Given the description of an element on the screen output the (x, y) to click on. 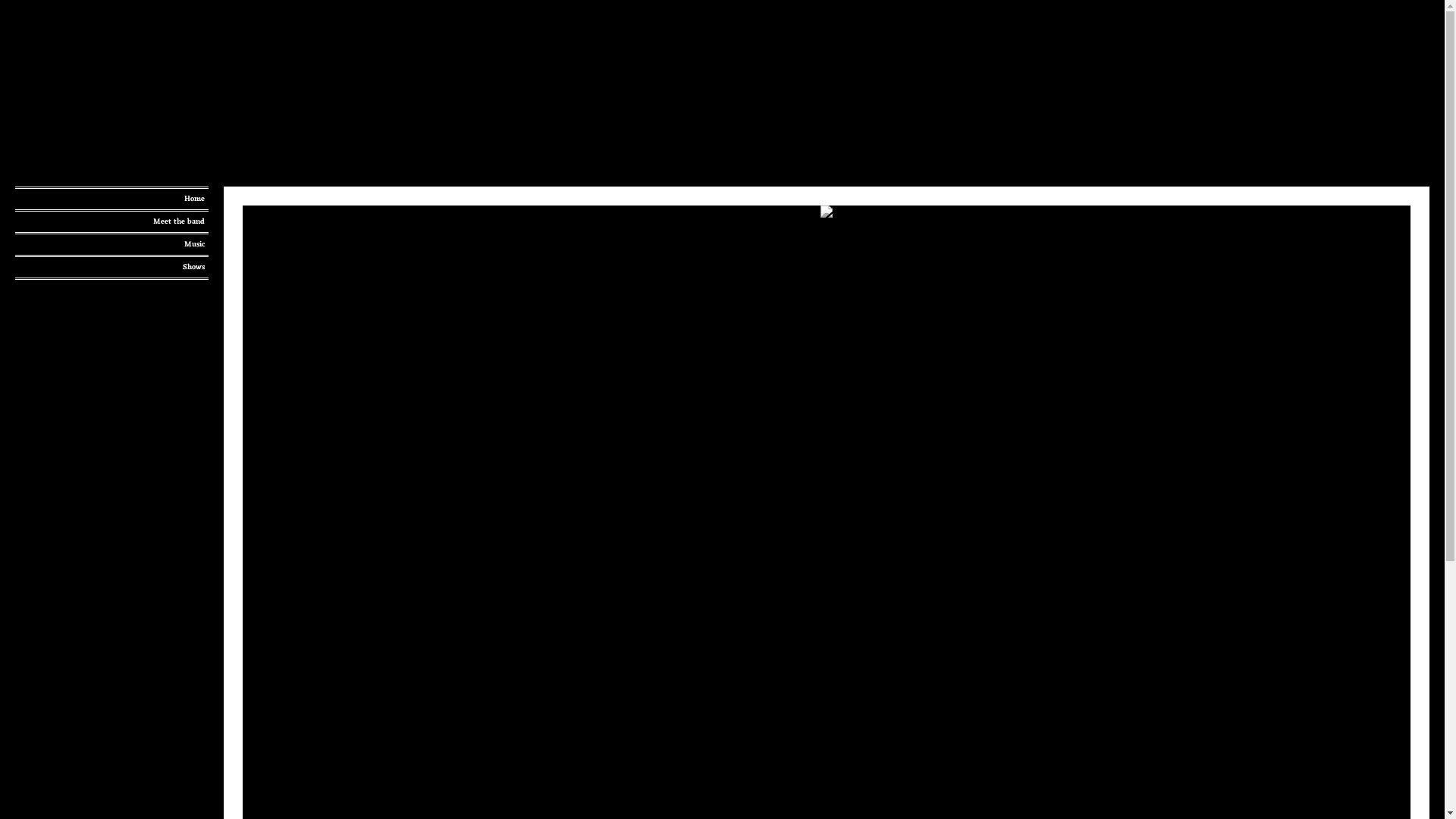
Music Element type: text (111, 244)
Meet the band Element type: text (111, 221)
Shows Element type: text (111, 267)
Home Element type: text (111, 198)
